Given the description of an element on the screen output the (x, y) to click on. 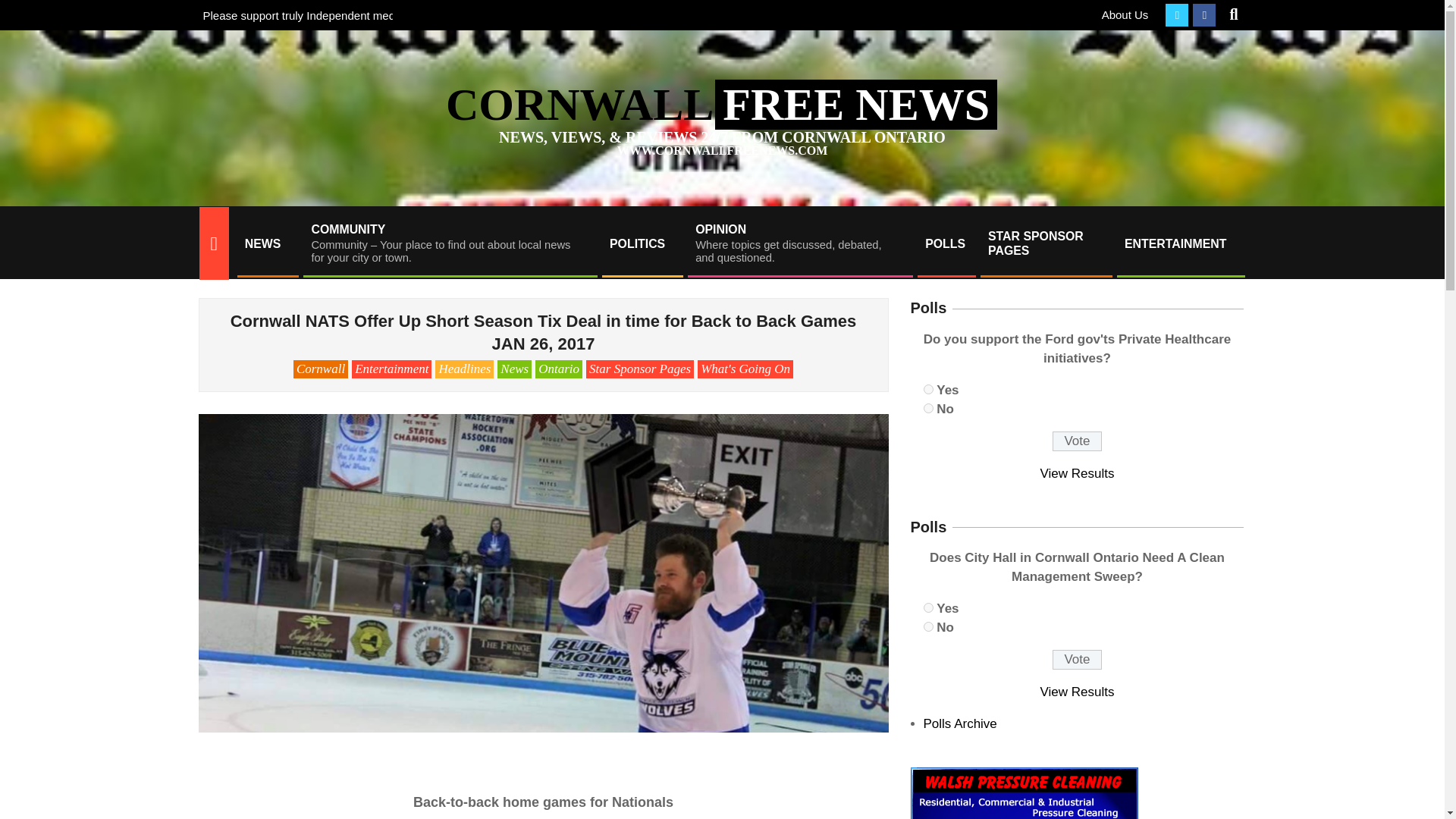
POLLS (945, 243)
   Vote    (1076, 659)
Search (24, 9)
NEWS (265, 243)
View Results Of This Poll (1078, 691)
View Results Of This Poll (1078, 473)
1776 (928, 388)
1770 (928, 607)
STAR SPONSOR PAGES (1044, 243)
ENTERTAINMENT (1179, 243)
